Given the description of an element on the screen output the (x, y) to click on. 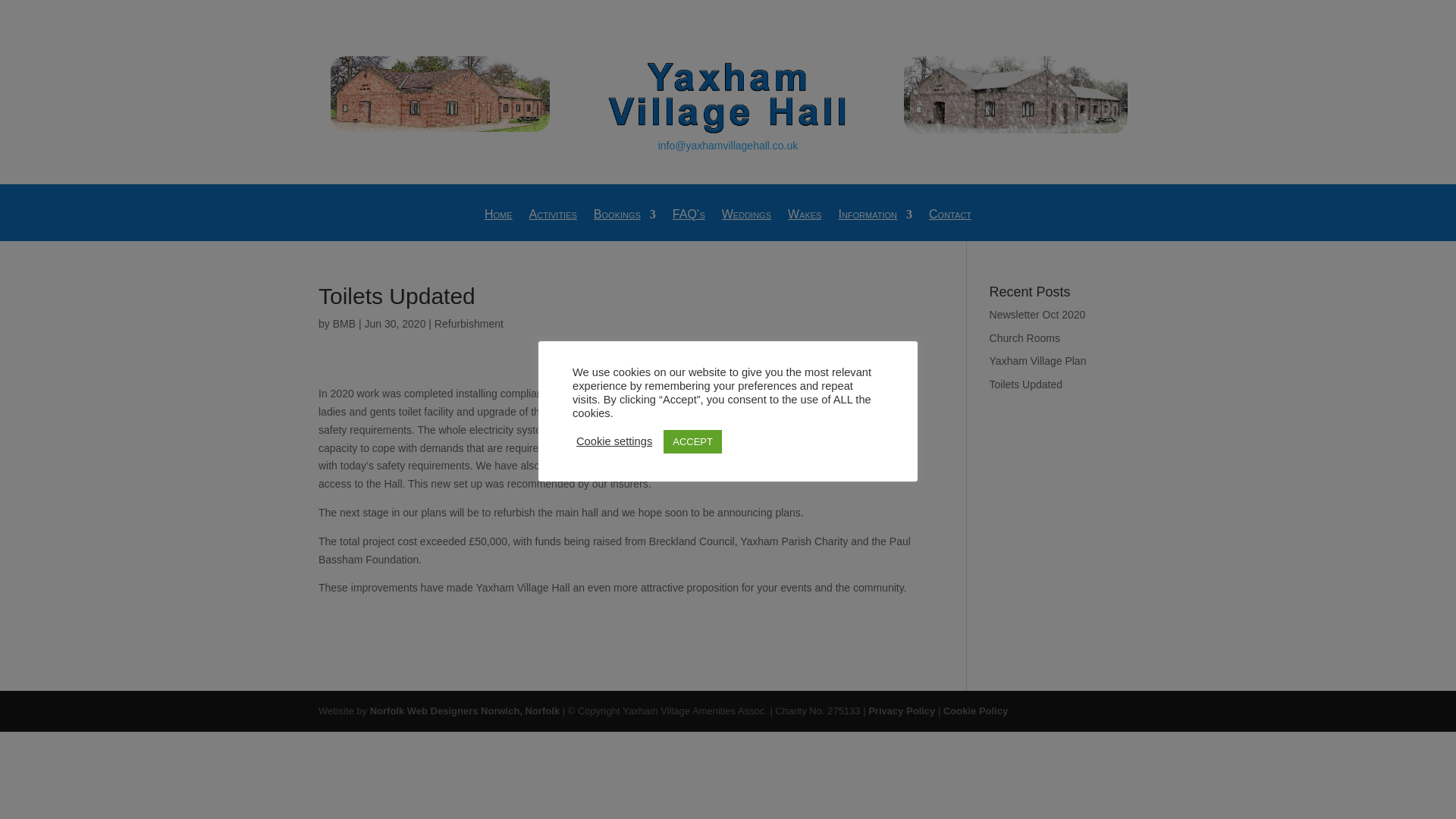
Church Rooms (1024, 337)
Weddings (746, 225)
Activities (552, 225)
Information (875, 225)
Bookings (625, 225)
Village Hall Logo 3 (727, 97)
Wakes (804, 225)
Newsletter Oct 2020 (1038, 314)
Refurbishment (468, 323)
Contact (949, 225)
